Given the description of an element on the screen output the (x, y) to click on. 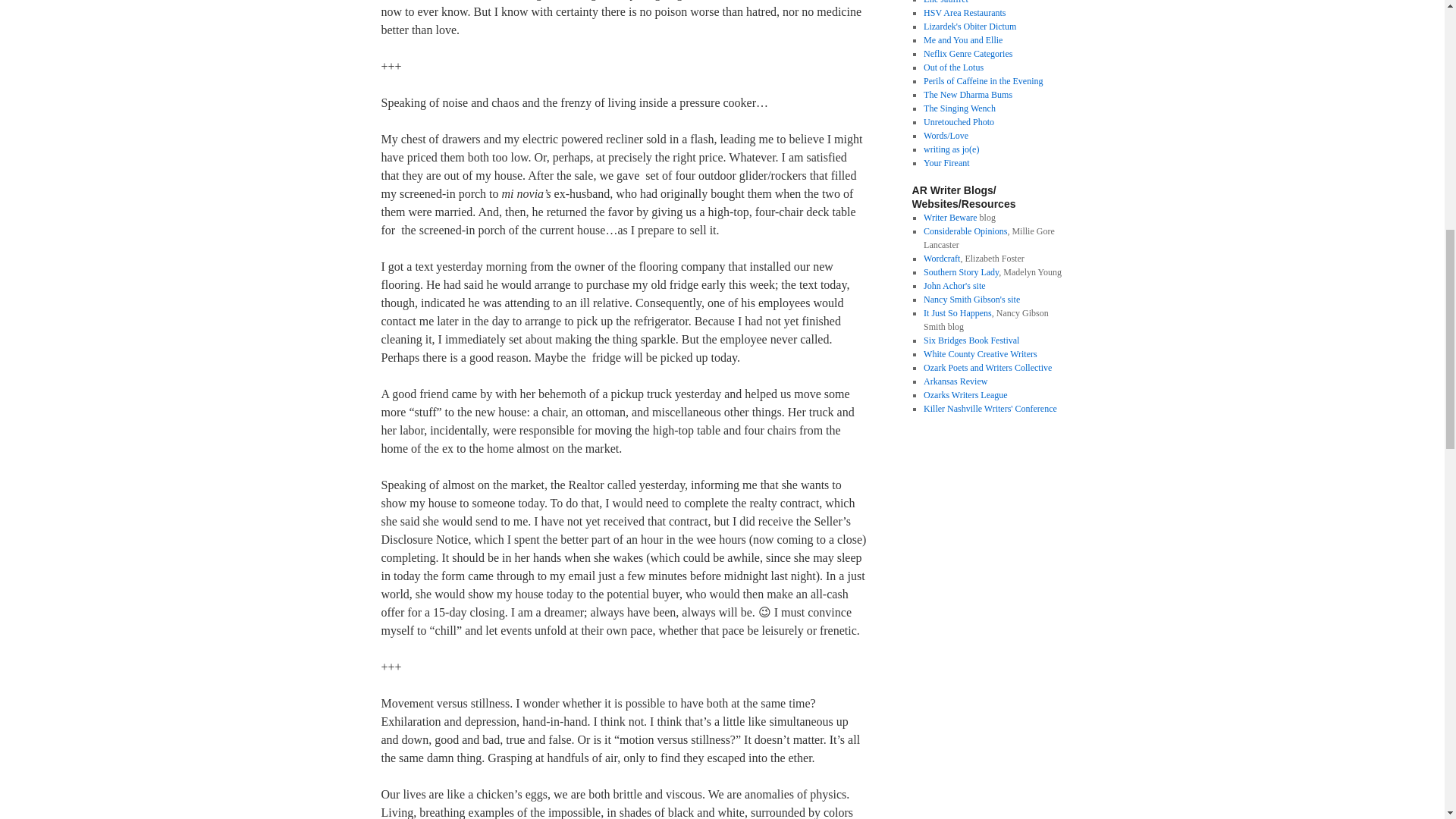
Elle Jauffret (945, 2)
